Given the description of an element on the screen output the (x, y) to click on. 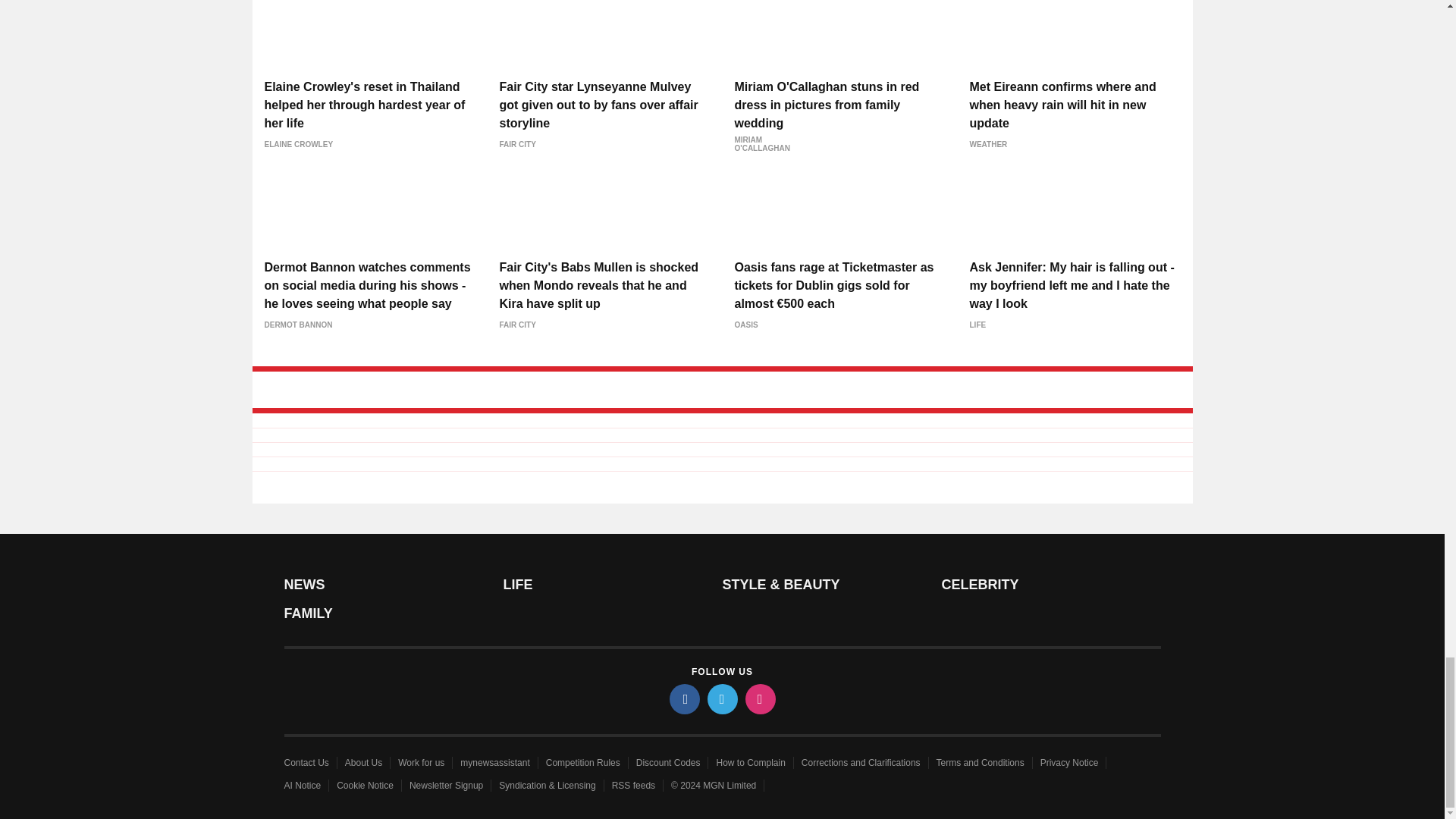
twitter (721, 698)
facebook (683, 698)
instagram (759, 698)
